Given the description of an element on the screen output the (x, y) to click on. 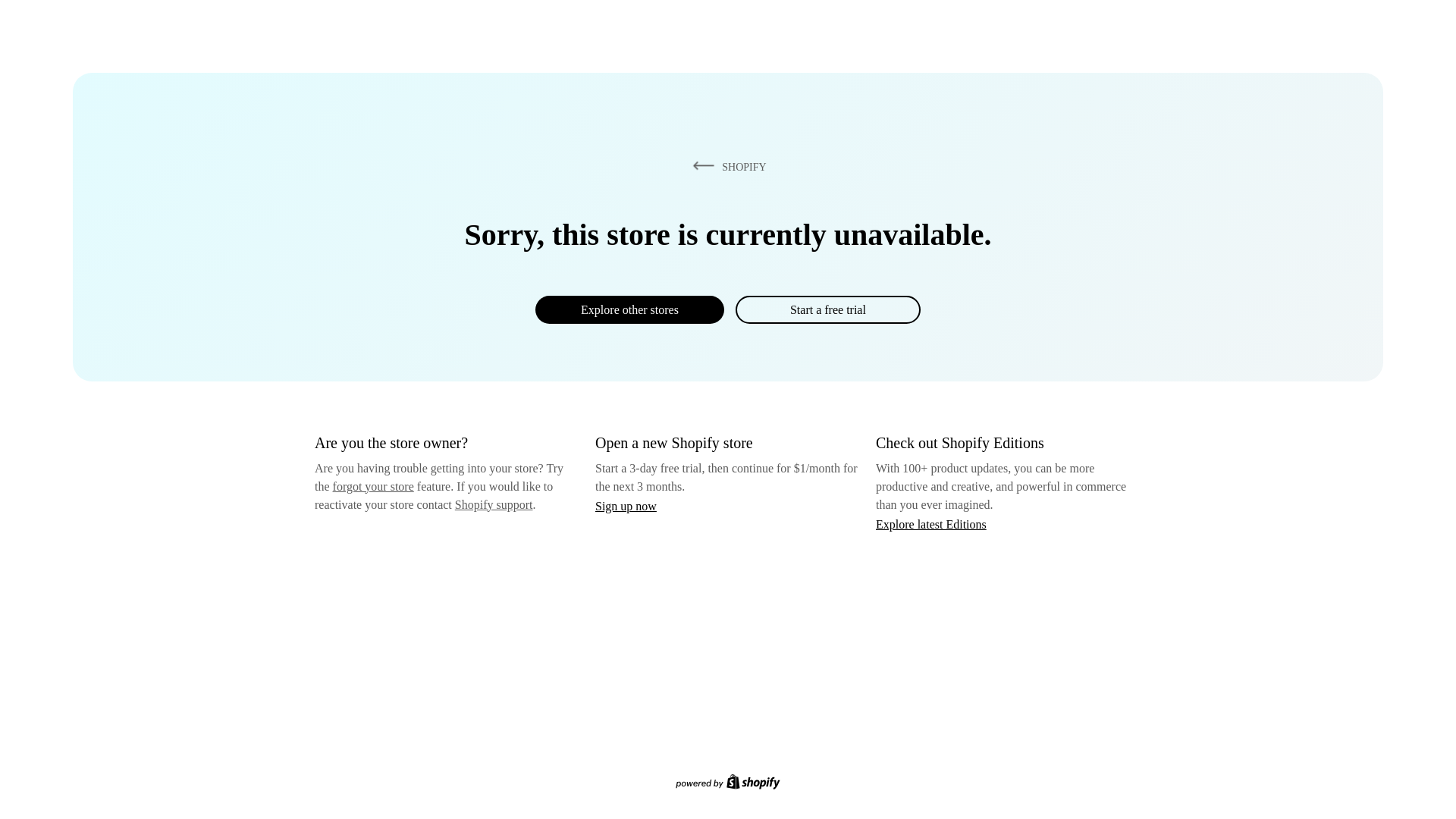
Explore other stores (629, 309)
Start a free trial (827, 309)
Sign up now (625, 505)
SHOPIFY (726, 166)
forgot your store (373, 486)
Shopify support (493, 504)
Explore latest Editions (931, 523)
